Given the description of an element on the screen output the (x, y) to click on. 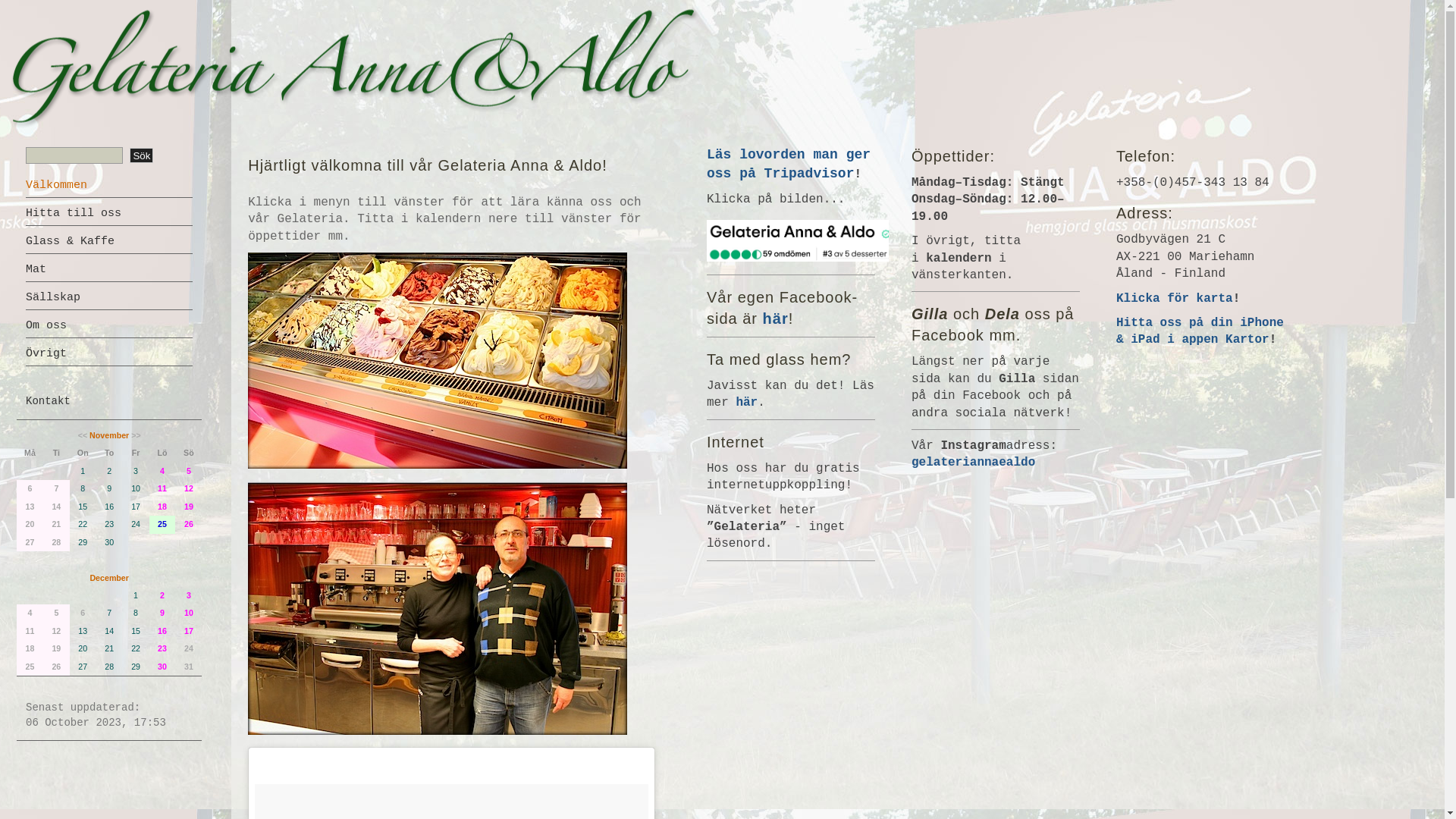
14 Element type: text (56, 506)
7 Element type: text (56, 488)
18 Element type: text (29, 648)
21 Element type: text (56, 524)
5 Element type: text (56, 612)
19 Element type: text (56, 648)
<< Element type: text (82, 434)
Hitta till oss Element type: text (73, 213)
6 Element type: text (82, 612)
Glass & Kaffe Element type: text (69, 241)
4 Element type: text (29, 612)
>> Element type: text (135, 434)
6 Element type: text (29, 488)
Glassbar Element type: hover (437, 360)
24 Element type: text (188, 648)
gelateriannaealdo Element type: text (973, 462)
20 Element type: text (29, 524)
27 Element type: text (29, 542)
12 Element type: text (56, 631)
31 Element type: text (188, 666)
28 Element type: text (56, 542)
26 Element type: text (56, 666)
13 Element type: text (29, 506)
Mat Element type: text (35, 269)
Om oss Element type: text (45, 325)
11 Element type: text (29, 631)
Anna & Aldo Element type: hover (437, 608)
Kontakt Element type: text (47, 401)
25 Element type: text (29, 666)
Tripadvisor rating Element type: hover (797, 240)
